Given the description of an element on the screen output the (x, y) to click on. 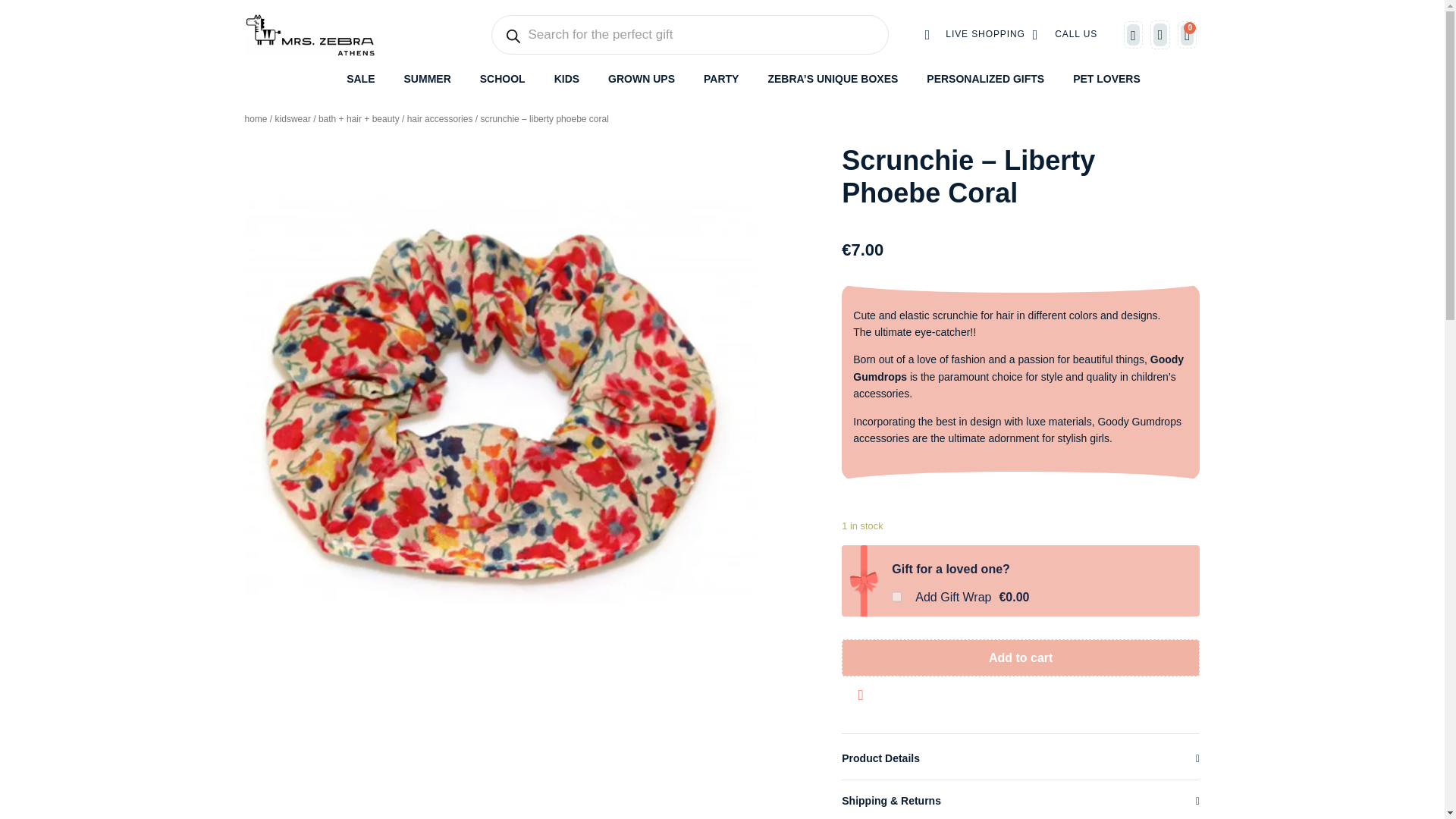
CALL US (1064, 34)
0 (1186, 34)
SALE (360, 79)
SCHOOL (502, 79)
1 (896, 596)
LIVE SHOPPING (974, 34)
KIDS (566, 79)
SUMMER (427, 79)
PERSONALIZED GIFTS (984, 79)
PARTY (720, 79)
GROWN UPS (641, 79)
PET LOVERS (1106, 79)
